Given the description of an element on the screen output the (x, y) to click on. 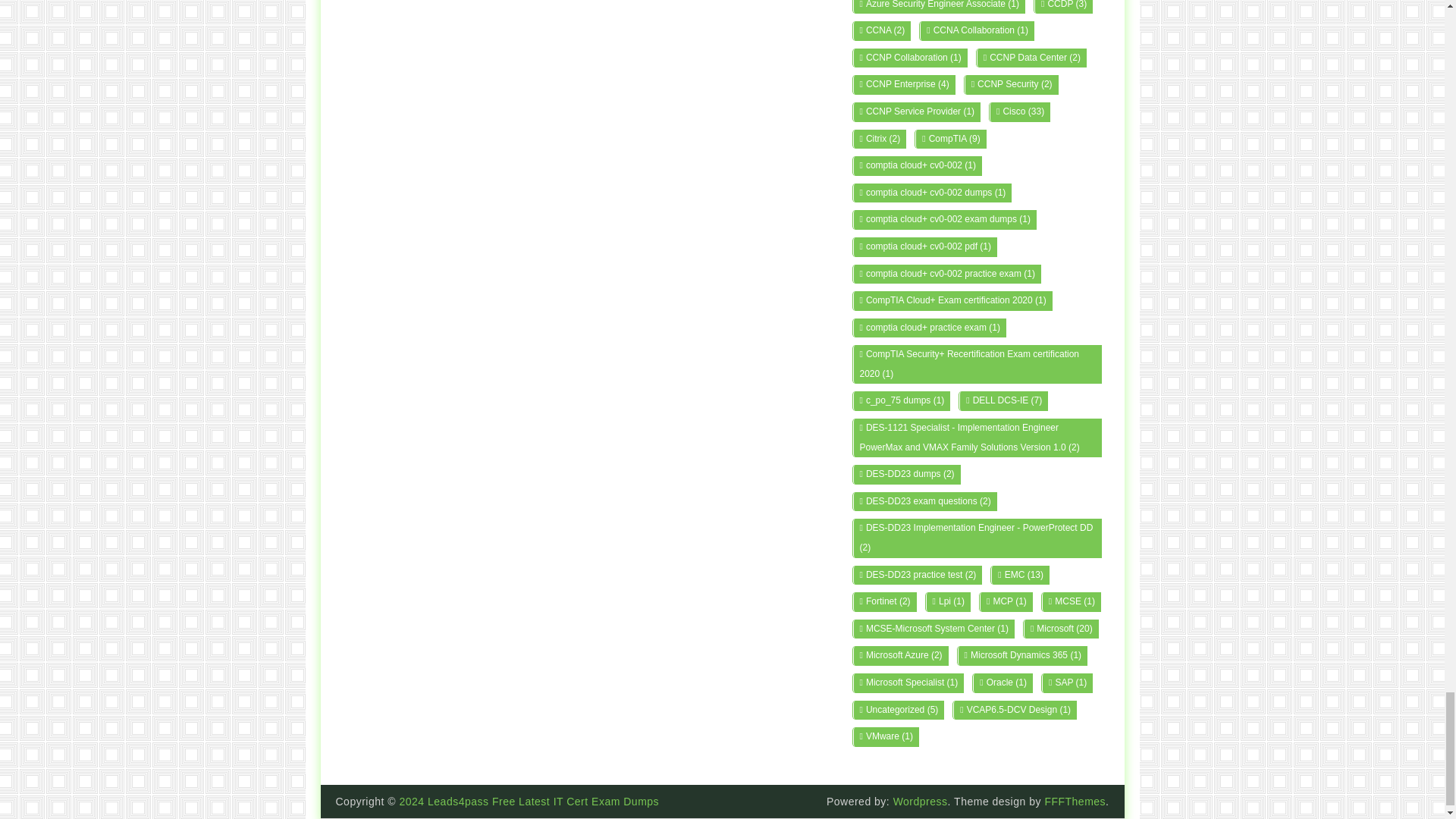
FFF Themes (1074, 801)
Wordpress (920, 801)
